Given the description of an element on the screen output the (x, y) to click on. 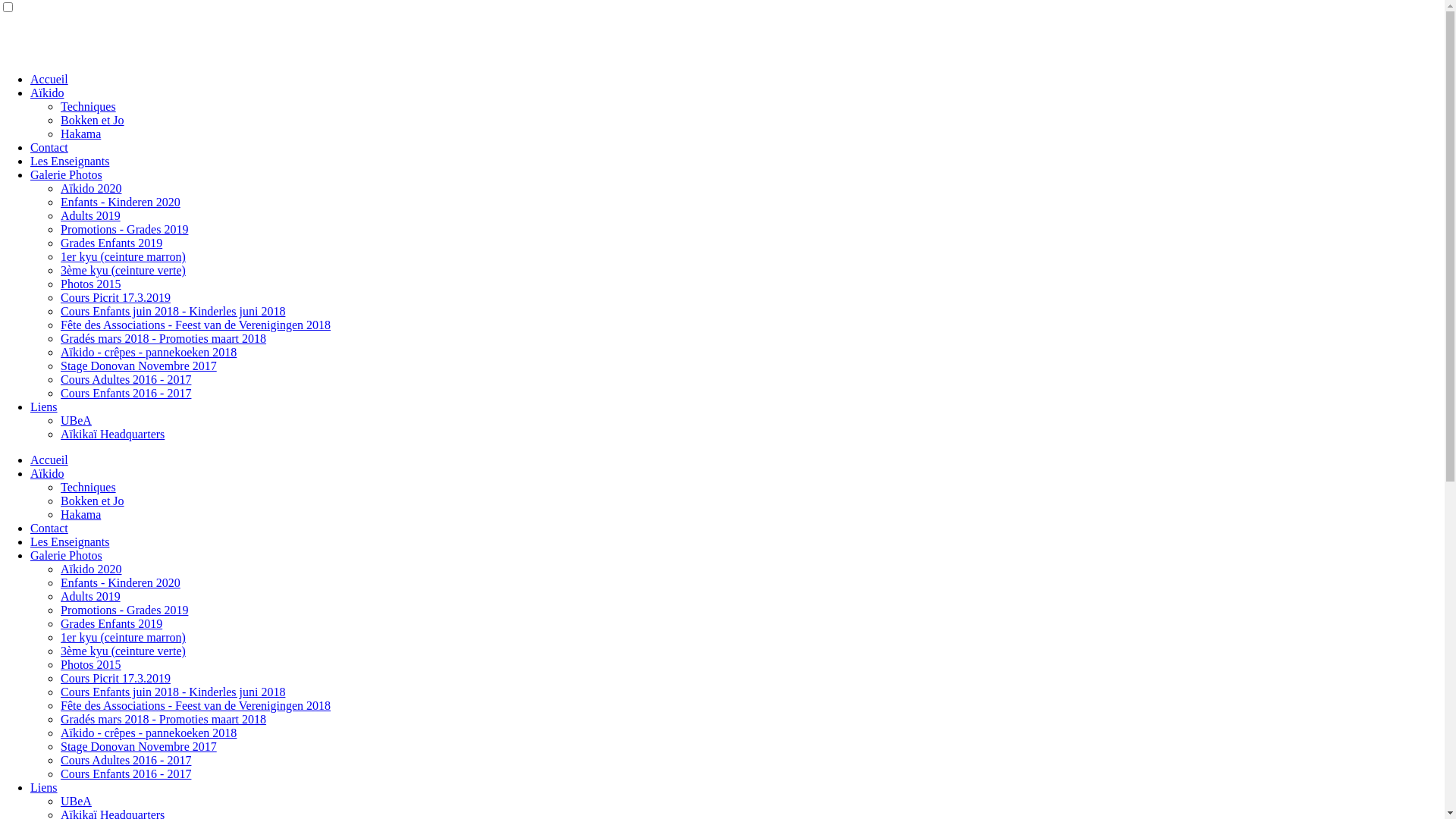
Cours Picrit 17.3.2019 Element type: text (115, 297)
Contact Element type: text (49, 147)
Stage Donovan Novembre 2017 Element type: text (138, 746)
Liens Element type: text (43, 406)
Grades Enfants 2019 Element type: text (111, 242)
Accueil Element type: text (49, 78)
Cours Enfants 2016 - 2017 Element type: text (125, 773)
Adults 2019 Element type: text (90, 595)
Hakama Element type: text (80, 133)
Adults 2019 Element type: text (90, 215)
Enfants - Kinderen 2020 Element type: text (120, 201)
Cours Enfants 2016 - 2017 Element type: text (125, 392)
Techniques Element type: text (88, 486)
Accueil Element type: text (49, 459)
Cours Enfants juin 2018 - Kinderles juni 2018 Element type: text (172, 310)
Contact Element type: text (49, 527)
Photos 2015 Element type: text (90, 664)
Liens Element type: text (43, 787)
Galerie Photos Element type: text (66, 555)
Cours Adultes 2016 - 2017 Element type: text (125, 759)
Promotions - Grades 2019 Element type: text (124, 228)
UBeA Element type: text (75, 420)
Cours Enfants juin 2018 - Kinderles juni 2018 Element type: text (172, 691)
Les Enseignants Element type: text (69, 541)
Stage Donovan Novembre 2017 Element type: text (138, 365)
Promotions - Grades 2019 Element type: text (124, 609)
Galerie Photos Element type: text (66, 174)
Enfants - Kinderen 2020 Element type: text (120, 582)
Cours Adultes 2016 - 2017 Element type: text (125, 379)
Bokken et Jo Element type: text (92, 119)
Cours Picrit 17.3.2019 Element type: text (115, 677)
Photos 2015 Element type: text (90, 283)
Hakama Element type: text (80, 514)
1er kyu (ceinture marron) Element type: text (122, 636)
UBeA Element type: text (75, 800)
Les Enseignants Element type: text (69, 160)
1er kyu (ceinture marron) Element type: text (122, 256)
Bokken et Jo Element type: text (92, 500)
Grades Enfants 2019 Element type: text (111, 623)
Techniques Element type: text (88, 106)
